Given the description of an element on the screen output the (x, y) to click on. 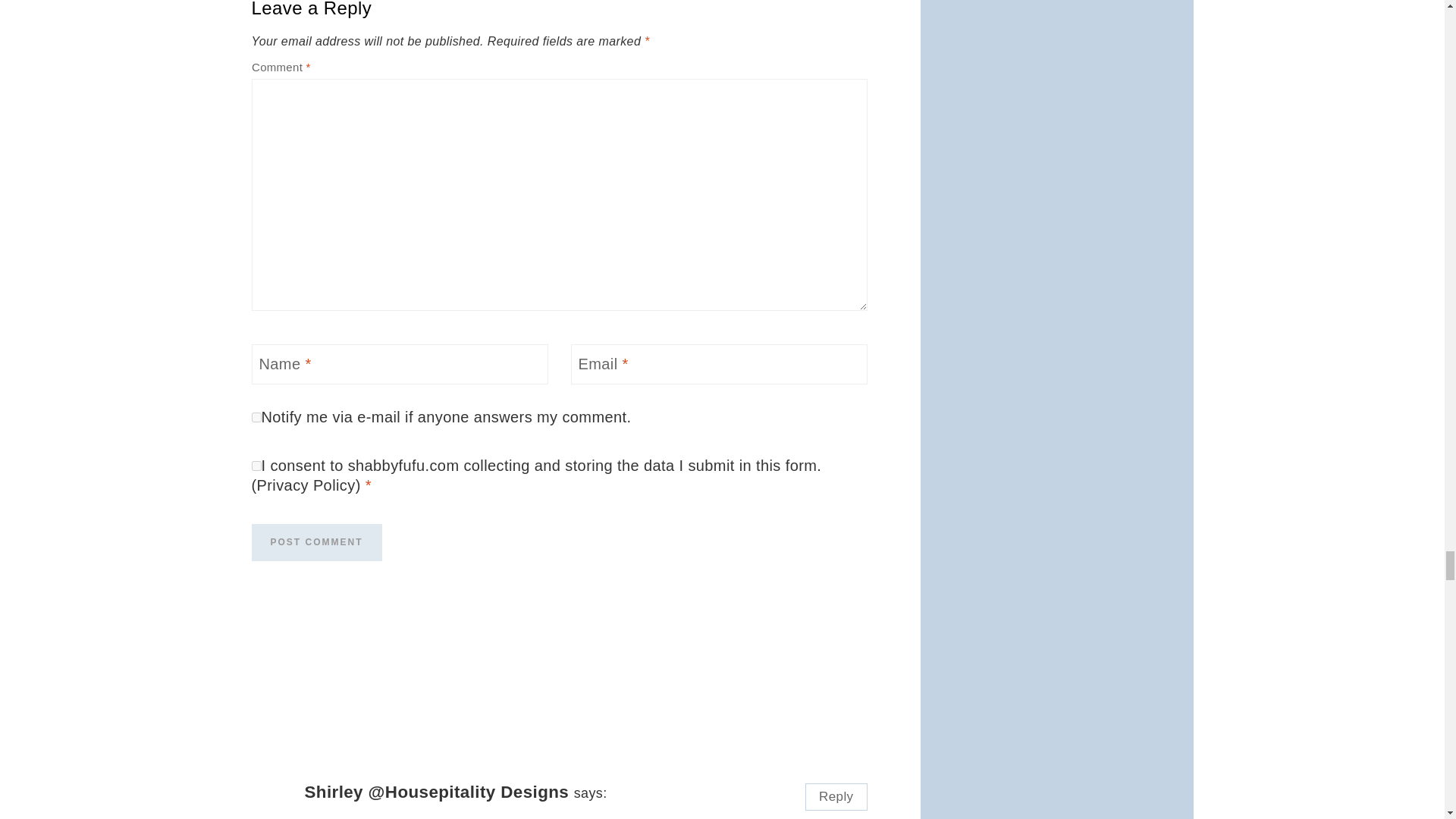
Post Comment (316, 542)
yes (256, 465)
on (256, 417)
